Given the description of an element on the screen output the (x, y) to click on. 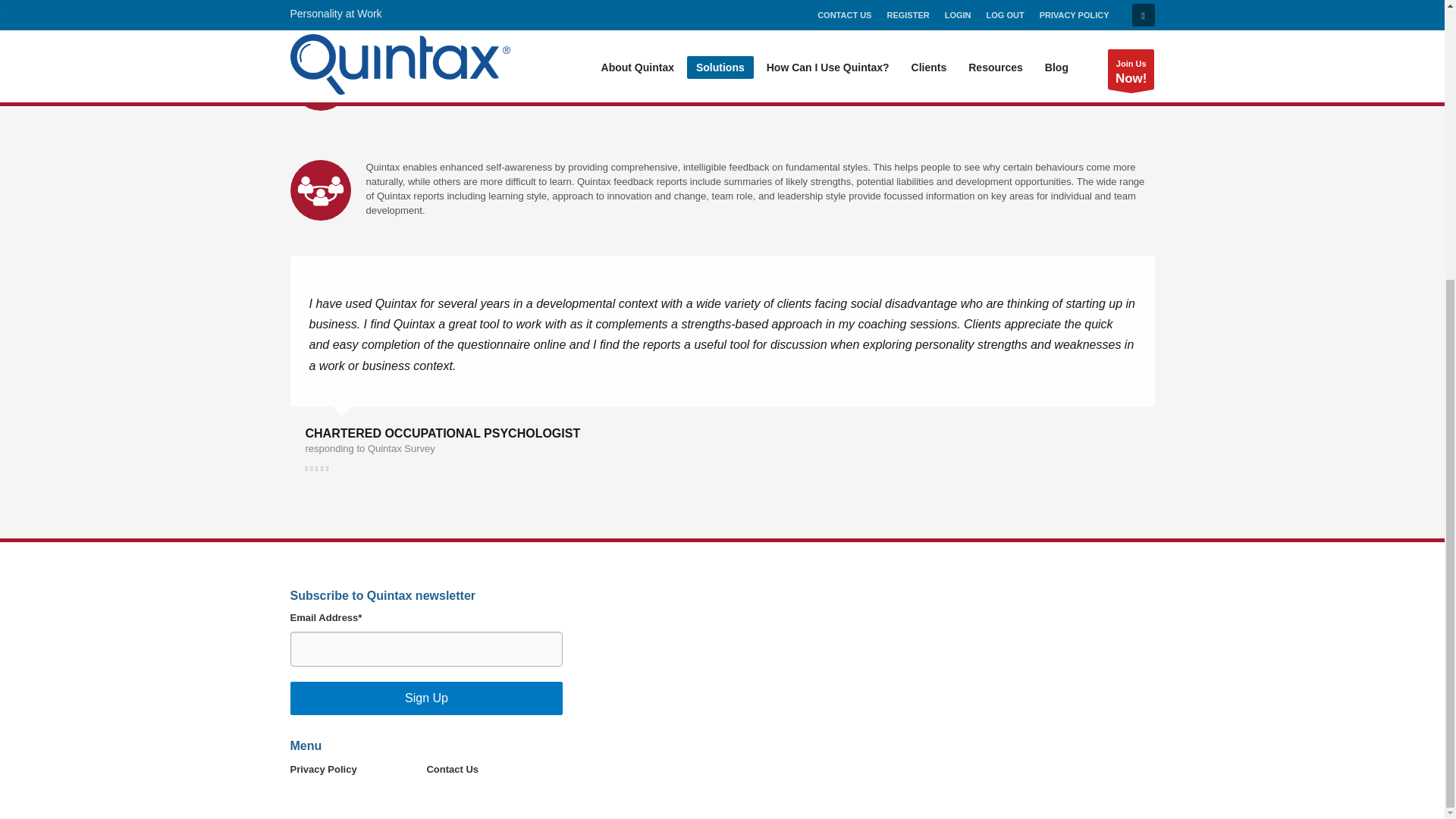
Contact Us (494, 770)
Privacy Policy (357, 770)
Sign Up (425, 697)
Sign Up (425, 697)
